Given the description of an element on the screen output the (x, y) to click on. 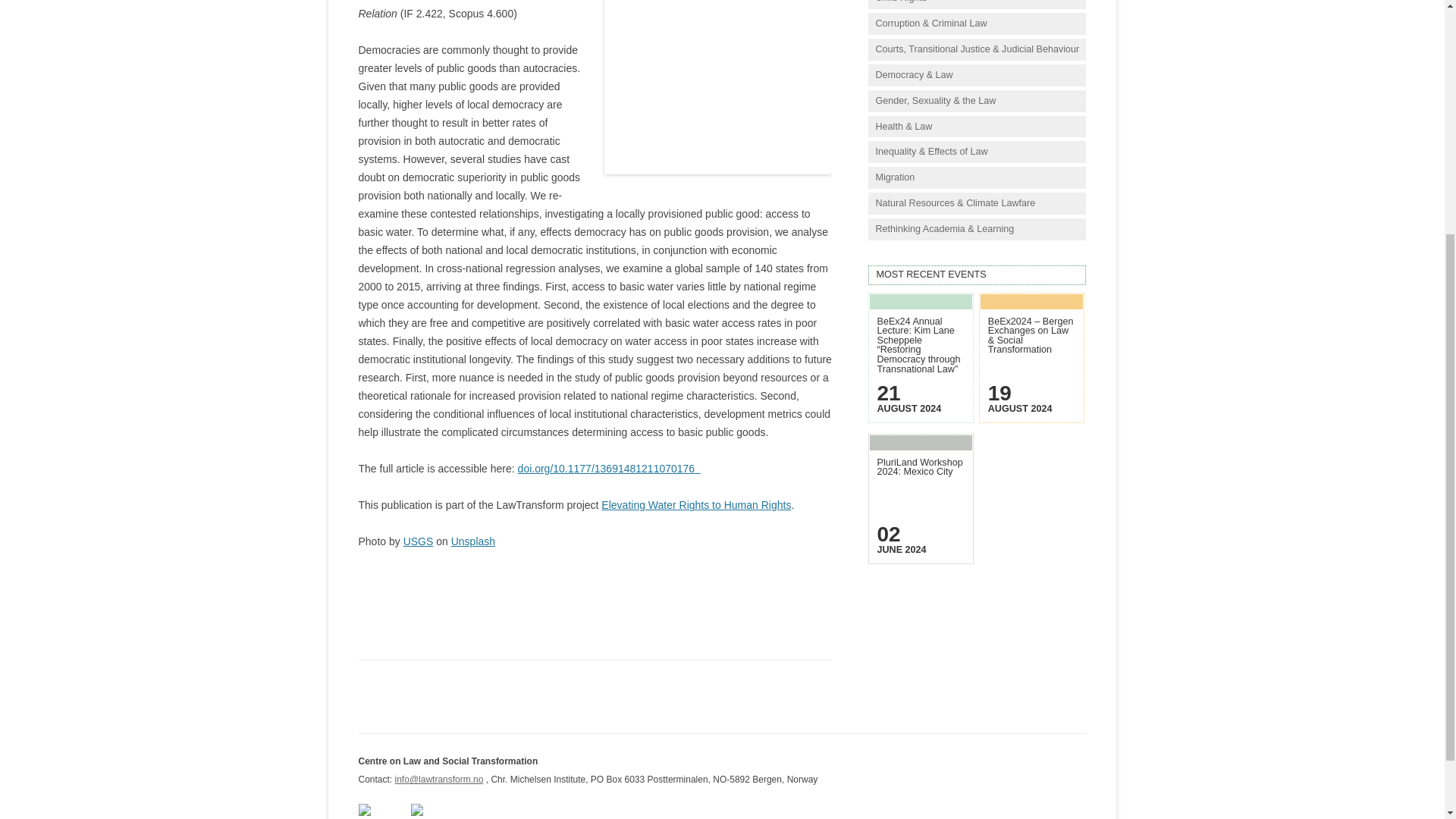
See upcoming and past events (977, 274)
CMI - Chr. Michelsen Institute (382, 812)
UiB - University of Bergen (435, 812)
